Given the description of an element on the screen output the (x, y) to click on. 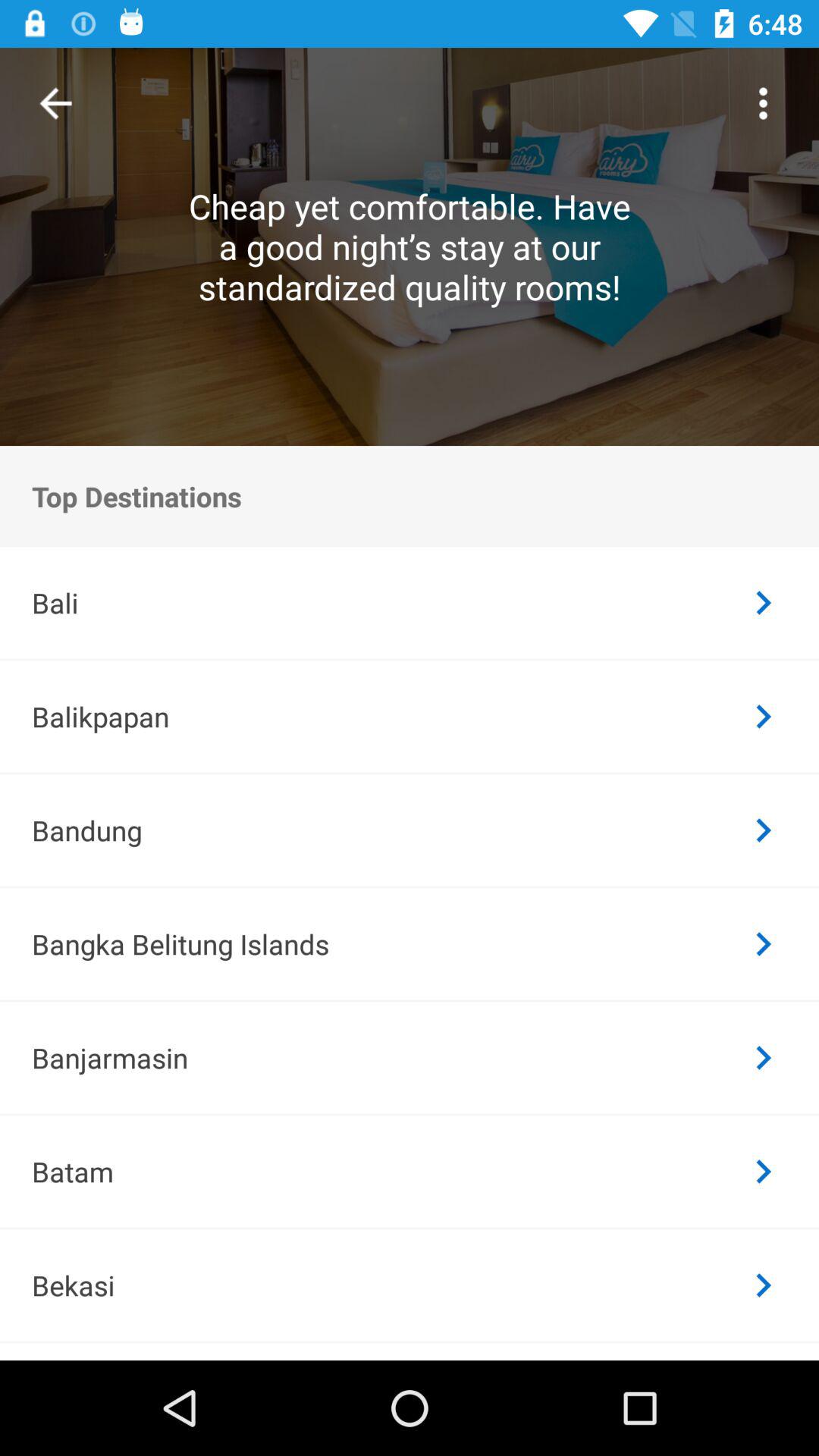
turn on the icon at the top right corner (763, 103)
